Given the description of an element on the screen output the (x, y) to click on. 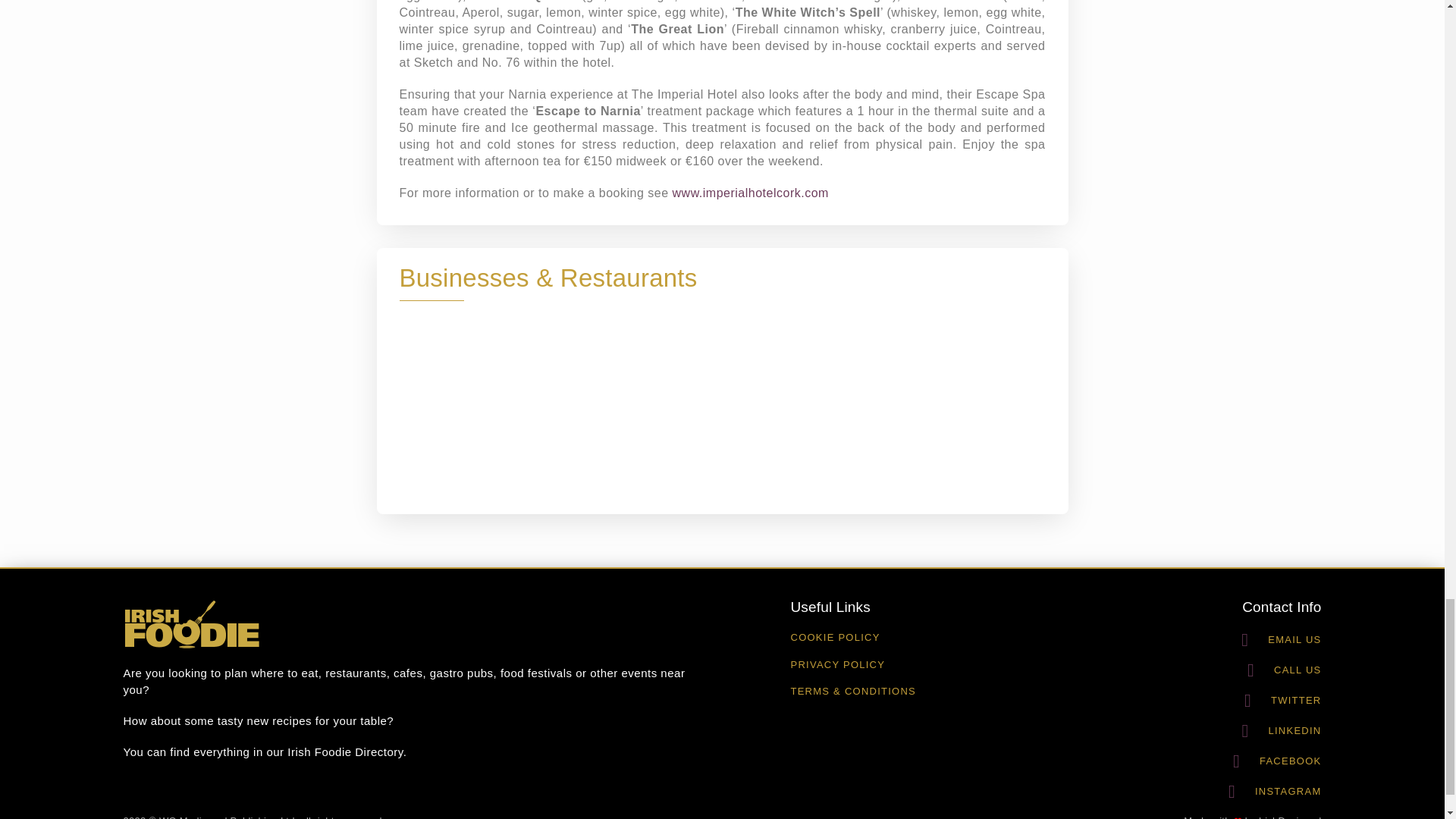
www.imperialhotelcork.com (750, 192)
